Given the description of an element on the screen output the (x, y) to click on. 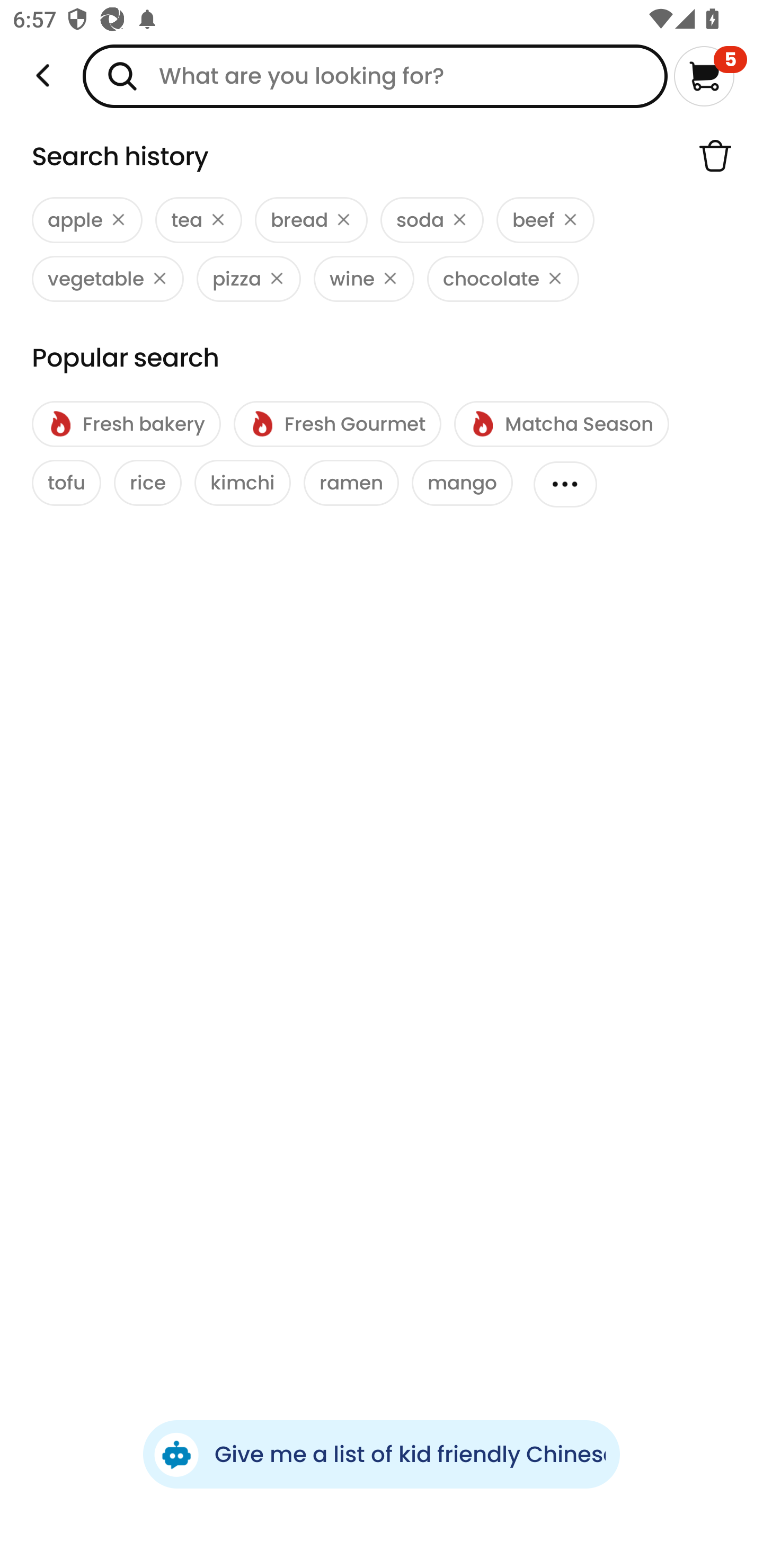
What are you looking for? (374, 75)
5 (709, 75)
Weee! (42, 76)
apple (87, 220)
tea (197, 220)
bread (310, 220)
soda (431, 220)
beef (545, 220)
vegetable (107, 278)
pizza (248, 278)
wine (363, 278)
chocolate (503, 278)
Fresh bakery (126, 423)
Fresh Gourmet (337, 423)
Matcha Season (561, 423)
tofu (66, 482)
rice (147, 482)
kimchi (242, 482)
ramen (351, 482)
mango (462, 482)
